Given the description of an element on the screen output the (x, y) to click on. 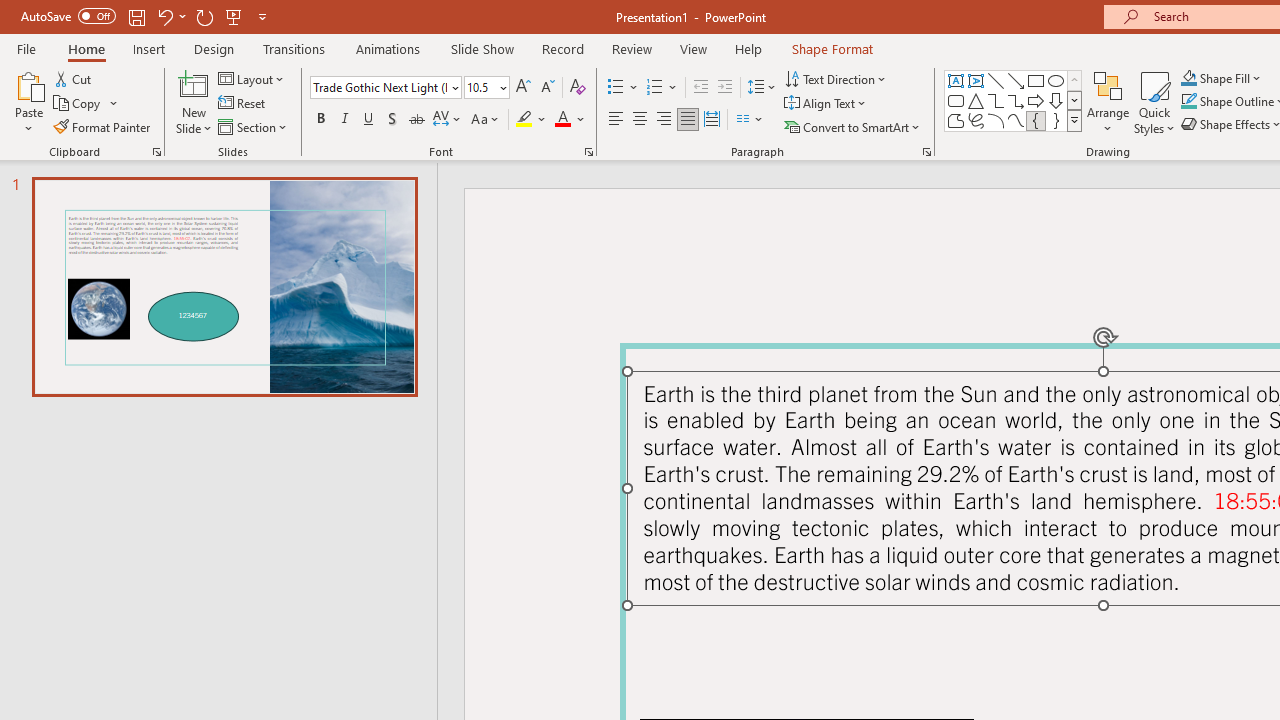
Shadow (392, 119)
Text Box (955, 80)
Font (379, 87)
Oval (1055, 80)
Numbering (654, 87)
Distributed (712, 119)
Font (385, 87)
Right Brace (1055, 120)
